Given the description of an element on the screen output the (x, y) to click on. 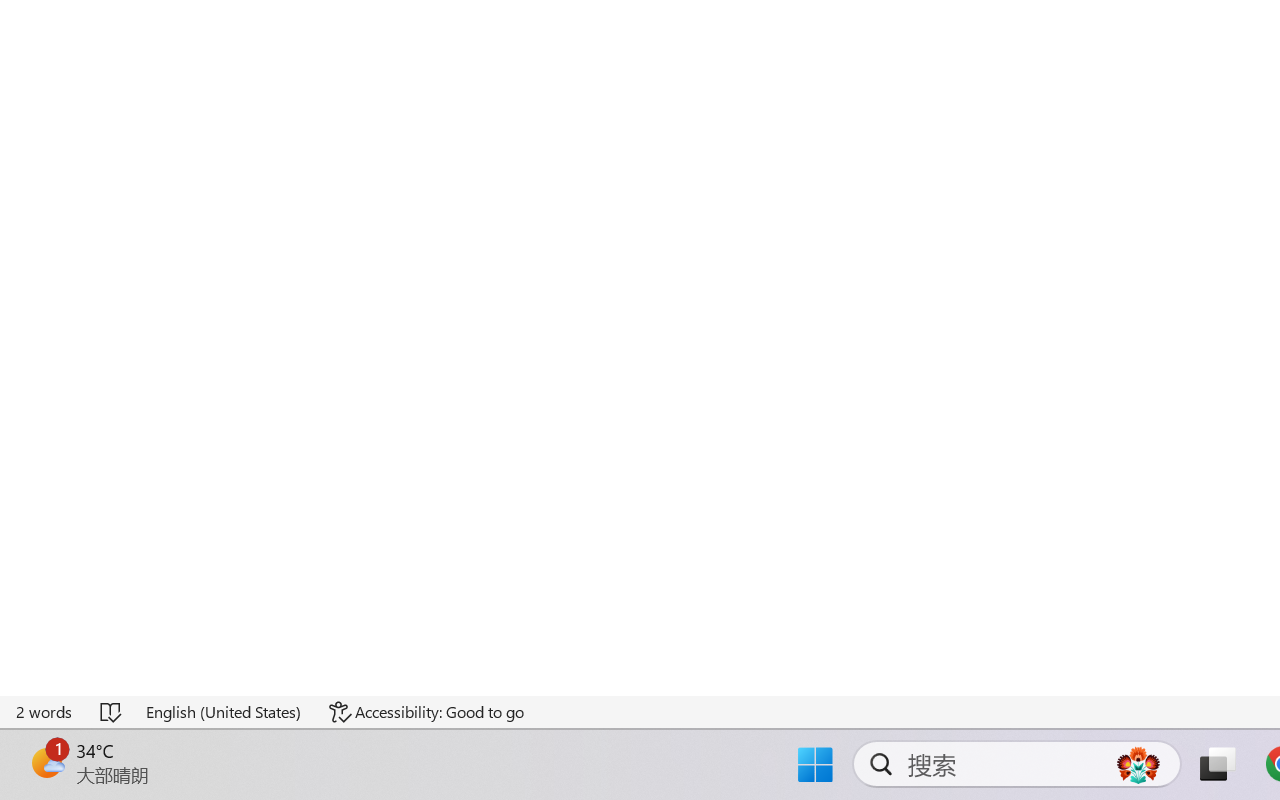
Accessibility Checker Accessibility: Good to go (426, 712)
Spelling and Grammar Check No Errors (112, 712)
AutomationID: BadgeAnchorLargeTicker (46, 762)
Word Count 2 words (45, 712)
AutomationID: DynamicSearchBoxGleamImage (1138, 764)
Language English (United States) (224, 712)
